Given the description of an element on the screen output the (x, y) to click on. 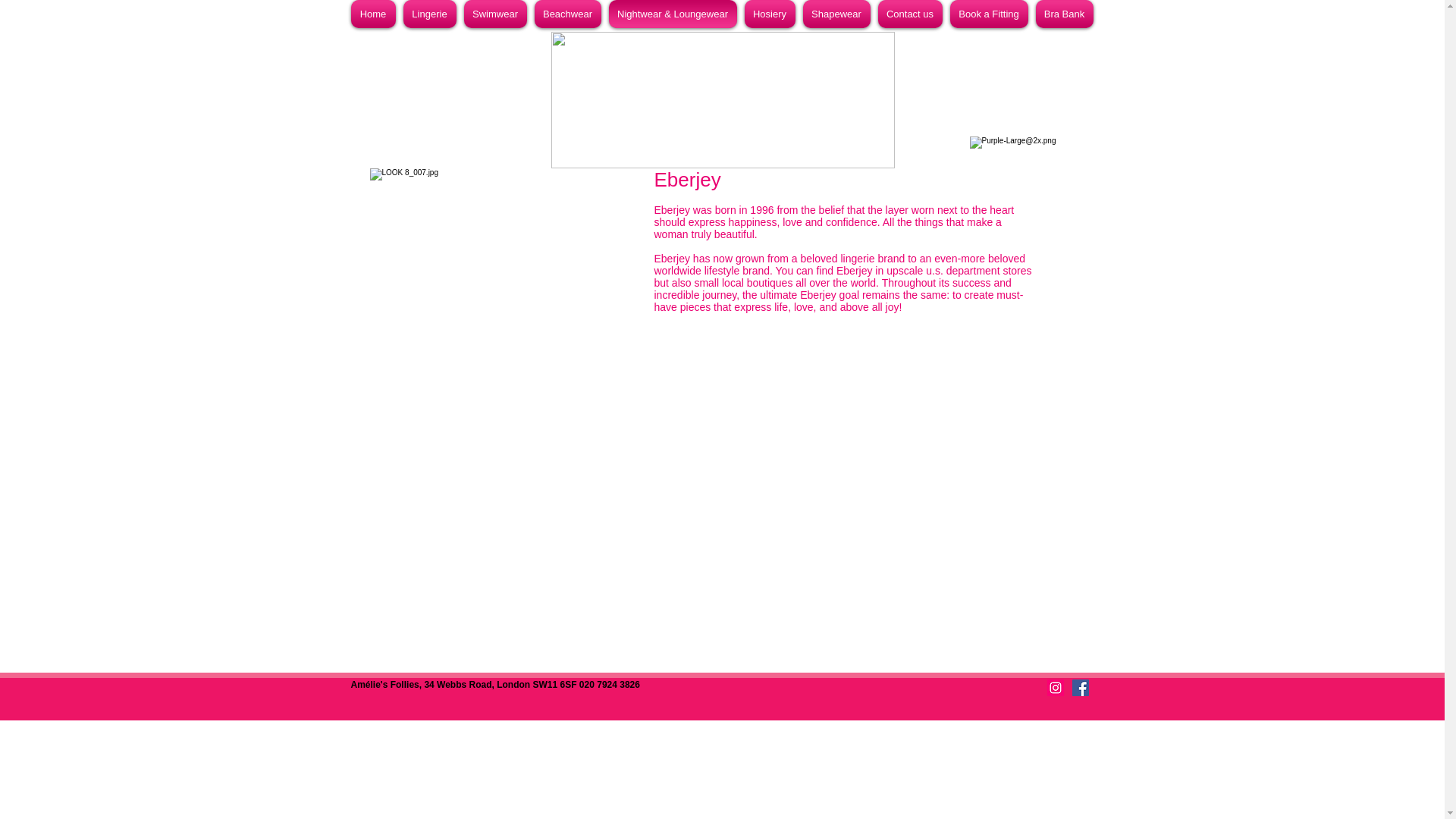
Home (374, 13)
Beachwear (568, 13)
Swimwear (494, 13)
Lingerie (429, 13)
